Given the description of an element on the screen output the (x, y) to click on. 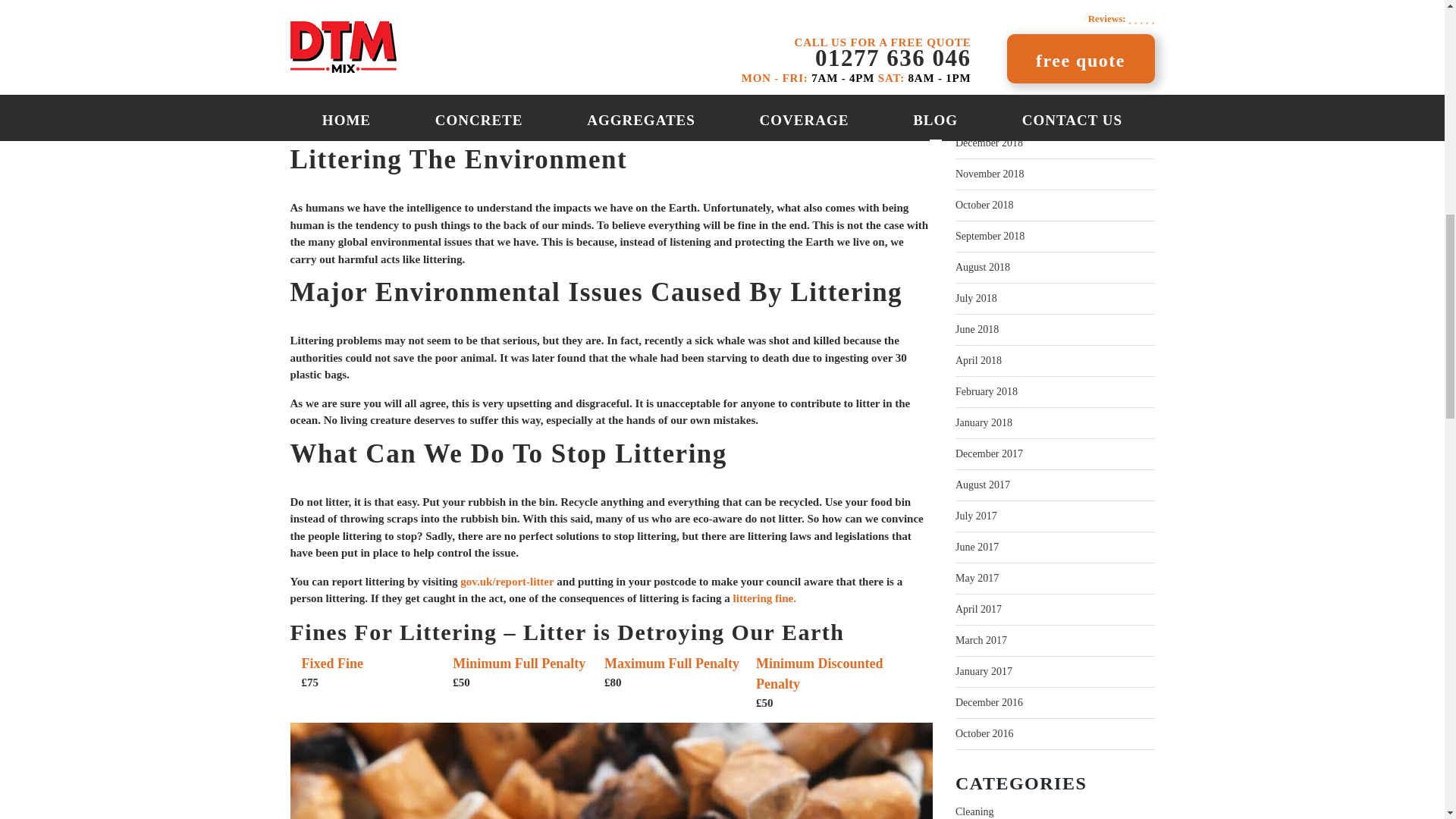
April 2019 (978, 49)
March 2019 (981, 80)
October 2018 (984, 205)
September 2018 (990, 236)
December 2018 (989, 142)
November 2018 (990, 174)
May 2019 (976, 18)
littering fine. (764, 598)
January 2019 (983, 111)
July 2018 (976, 298)
